Given the description of an element on the screen output the (x, y) to click on. 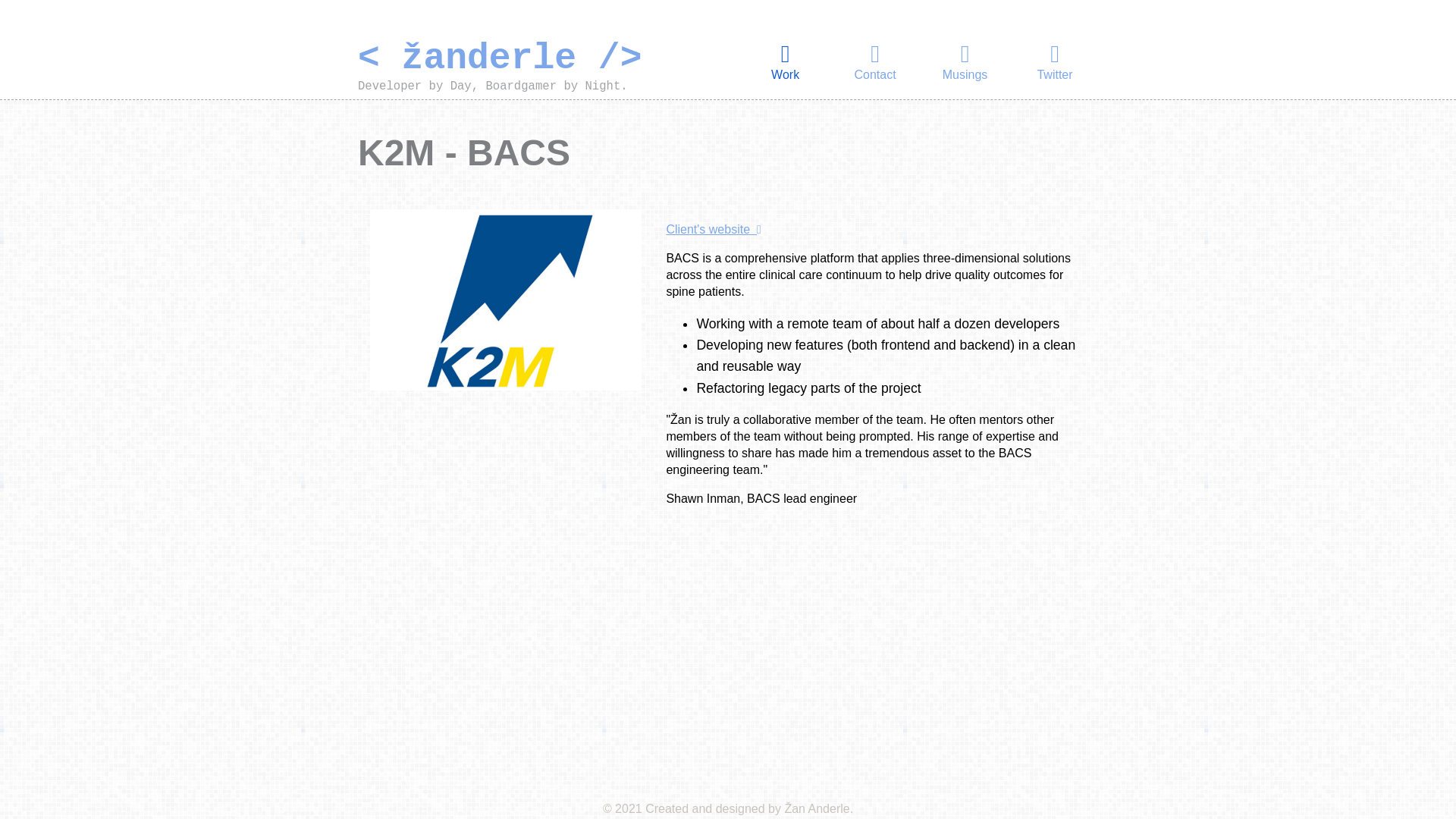
Contact (874, 60)
Client's website   (712, 228)
Work (785, 60)
Musings (965, 60)
Twitter (1054, 60)
